Given the description of an element on the screen output the (x, y) to click on. 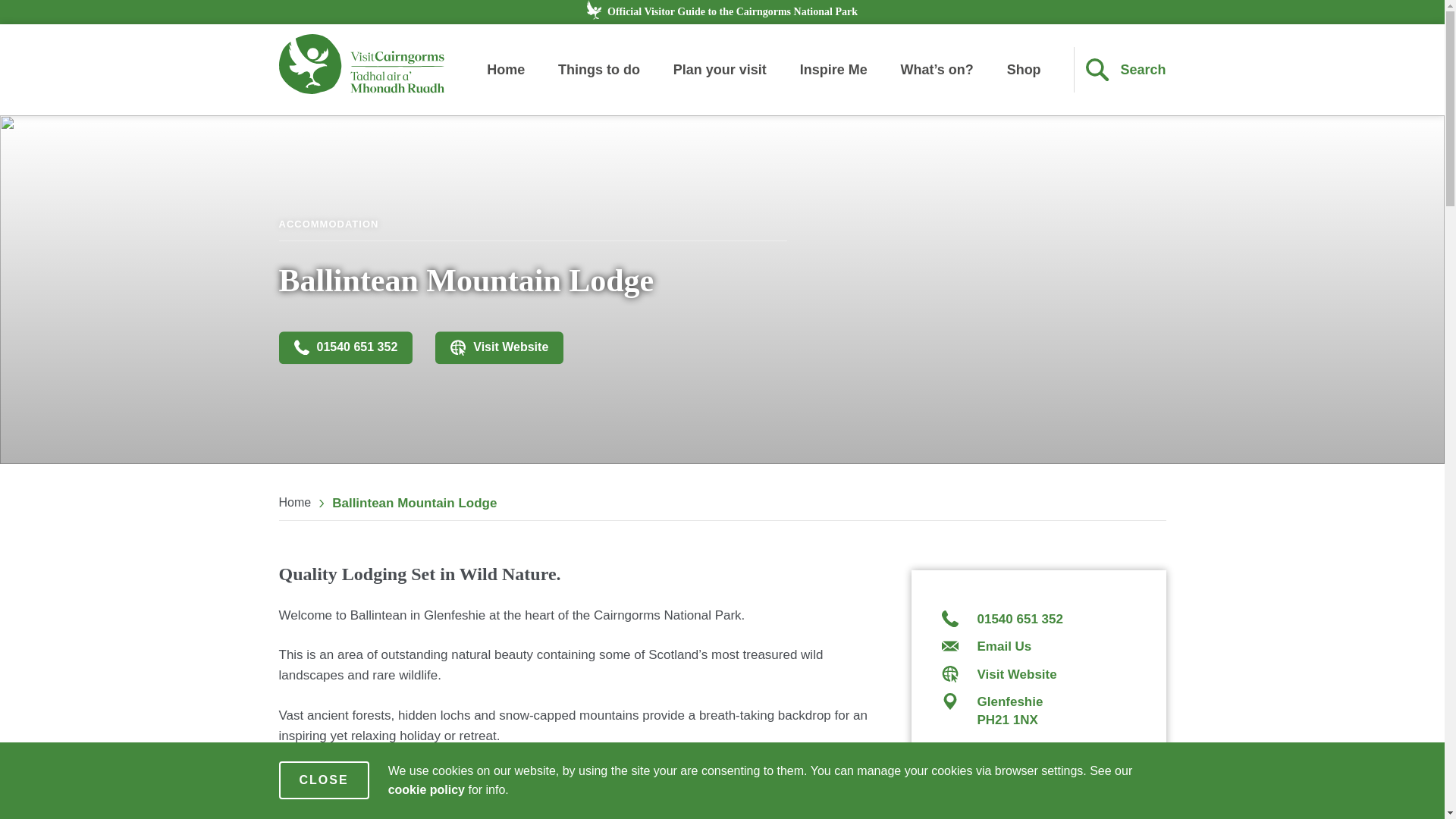
Things to do (598, 69)
CLOSE (324, 780)
cookie policy (426, 789)
